Given the description of an element on the screen output the (x, y) to click on. 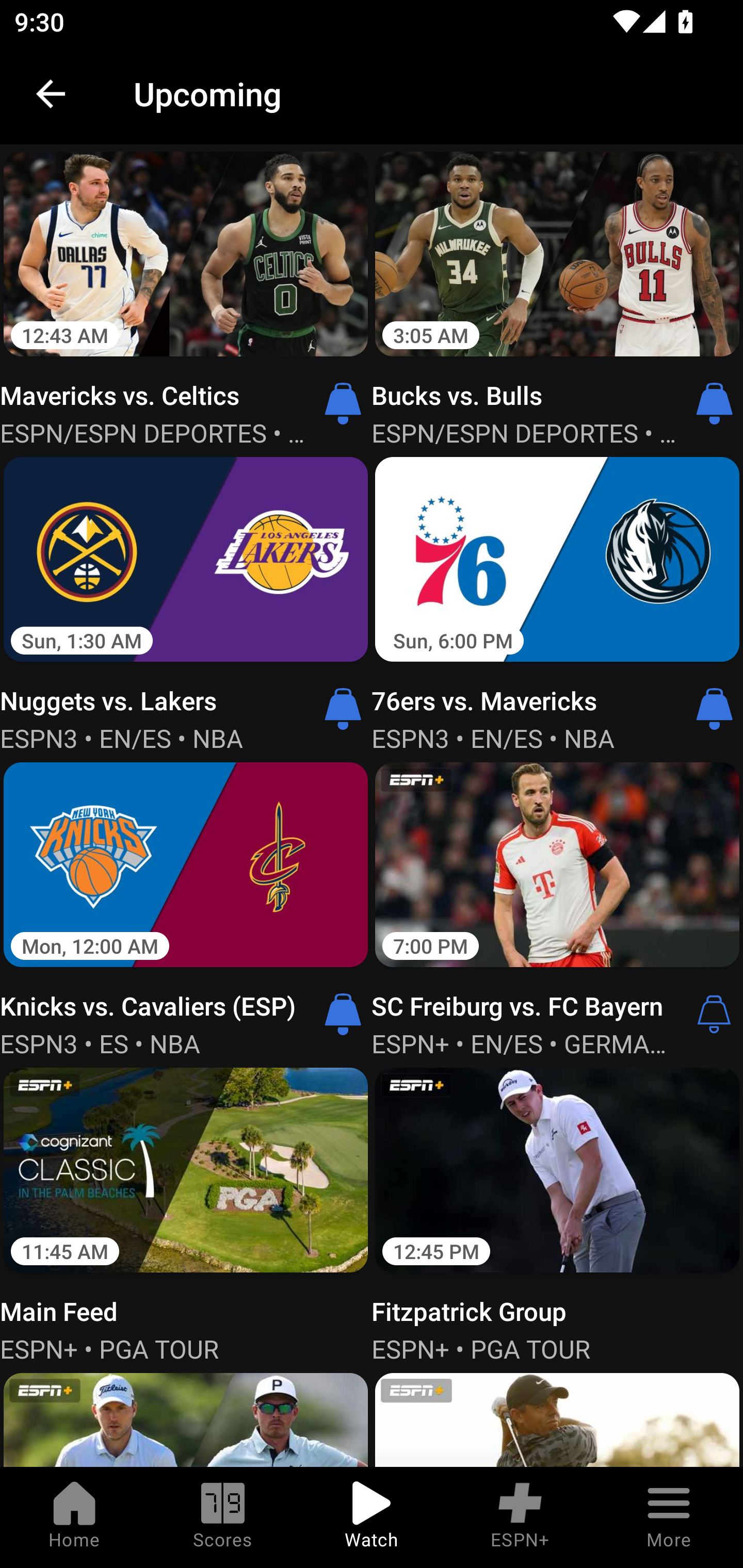
Alerts (714, 1013)
11:45 AM Main Feed ESPN+ • PGA TOUR (185, 1212)
12:45 PM Fitzpatrick Group ESPN+ • PGA TOUR (557, 1212)
Home (74, 1517)
Scores (222, 1517)
ESPN+ (519, 1517)
More (668, 1517)
